Given the description of an element on the screen output the (x, y) to click on. 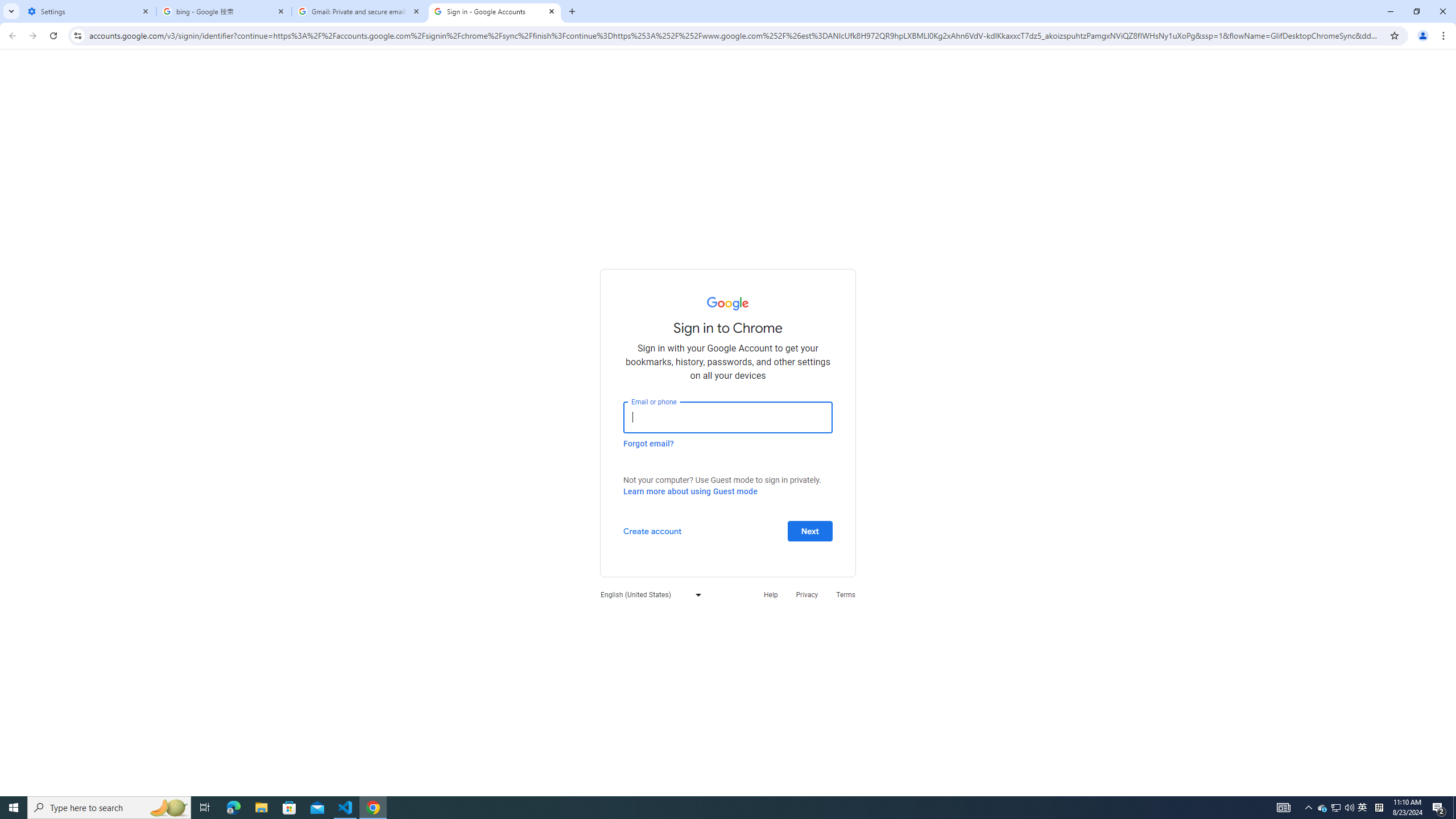
Settings (88, 11)
Learn more about using Guest mode (689, 491)
Email or phone (727, 417)
Create account (651, 530)
